Given the description of an element on the screen output the (x, y) to click on. 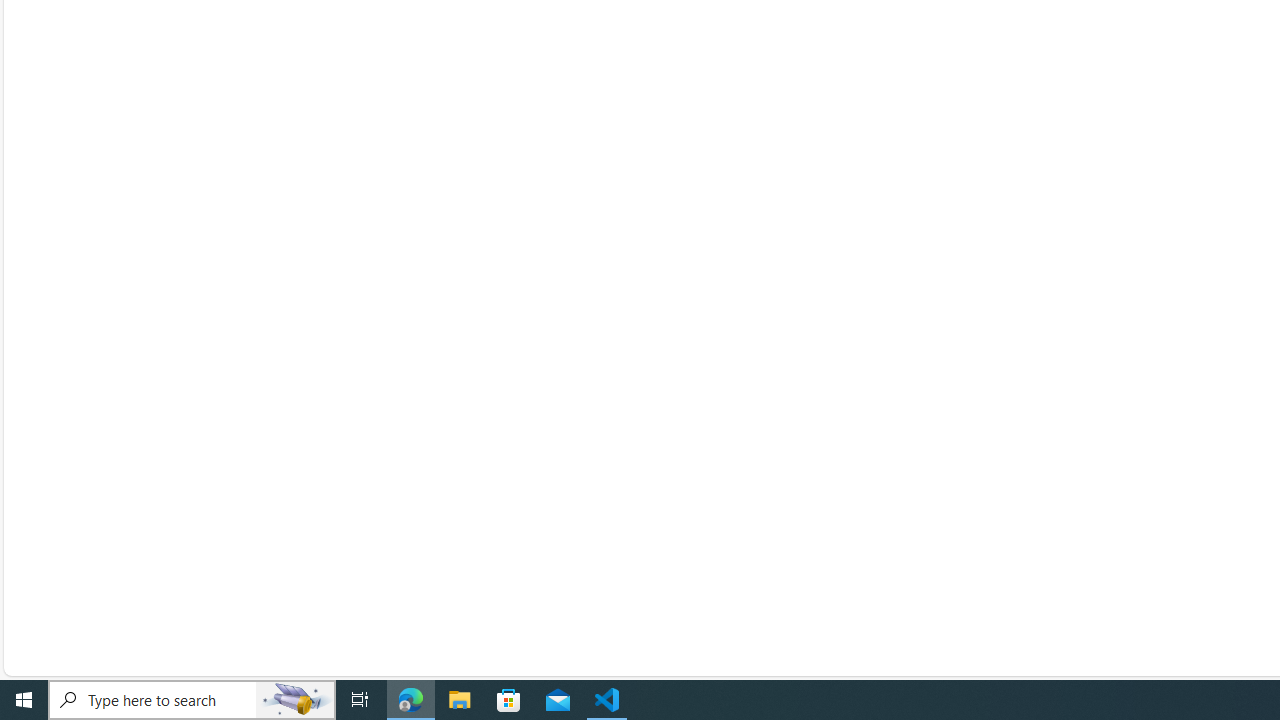
Lightbox (1272, 13)
SSL certificate (1033, 92)
